Given the description of an element on the screen output the (x, y) to click on. 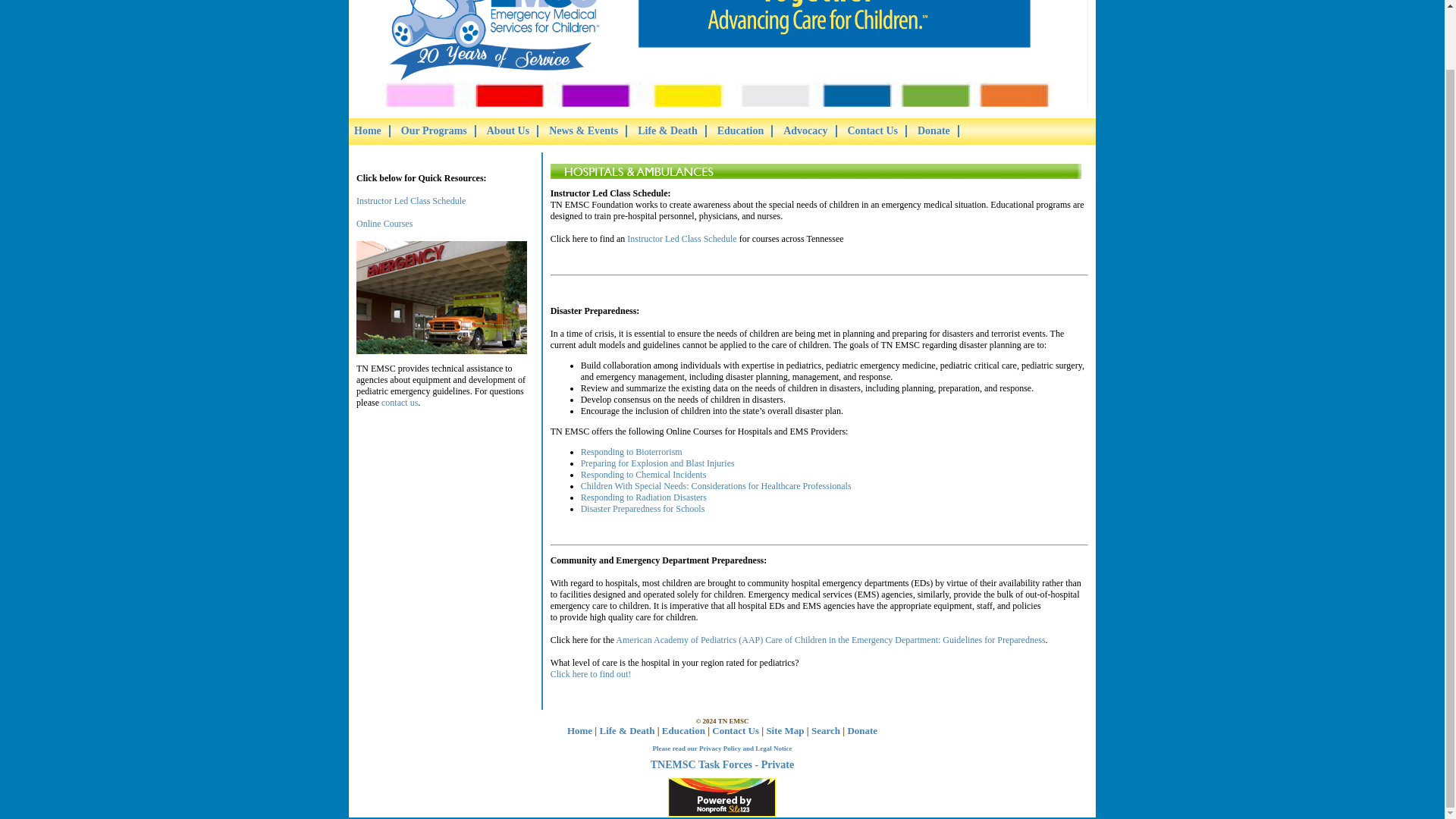
Instructor Led Class Schedule (410, 200)
Online Courses (384, 223)
contact us (399, 402)
Home (367, 131)
Powered by NonProfitSite123 (722, 797)
Instructor Led Class Schedule (681, 238)
Donate (933, 131)
